Given the description of an element on the screen output the (x, y) to click on. 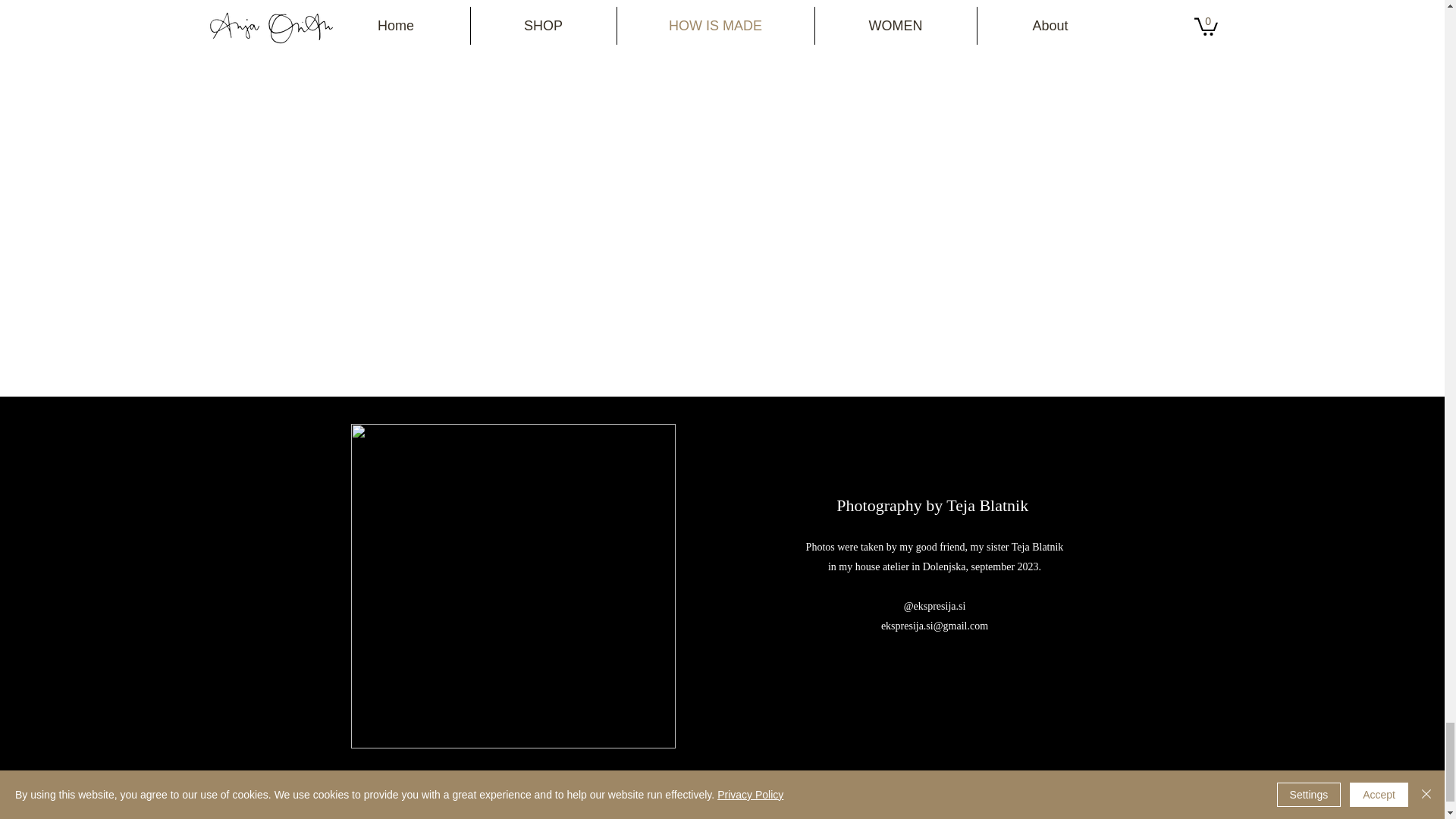
RING SIZE (1201, 791)
